Given the description of an element on the screen output the (x, y) to click on. 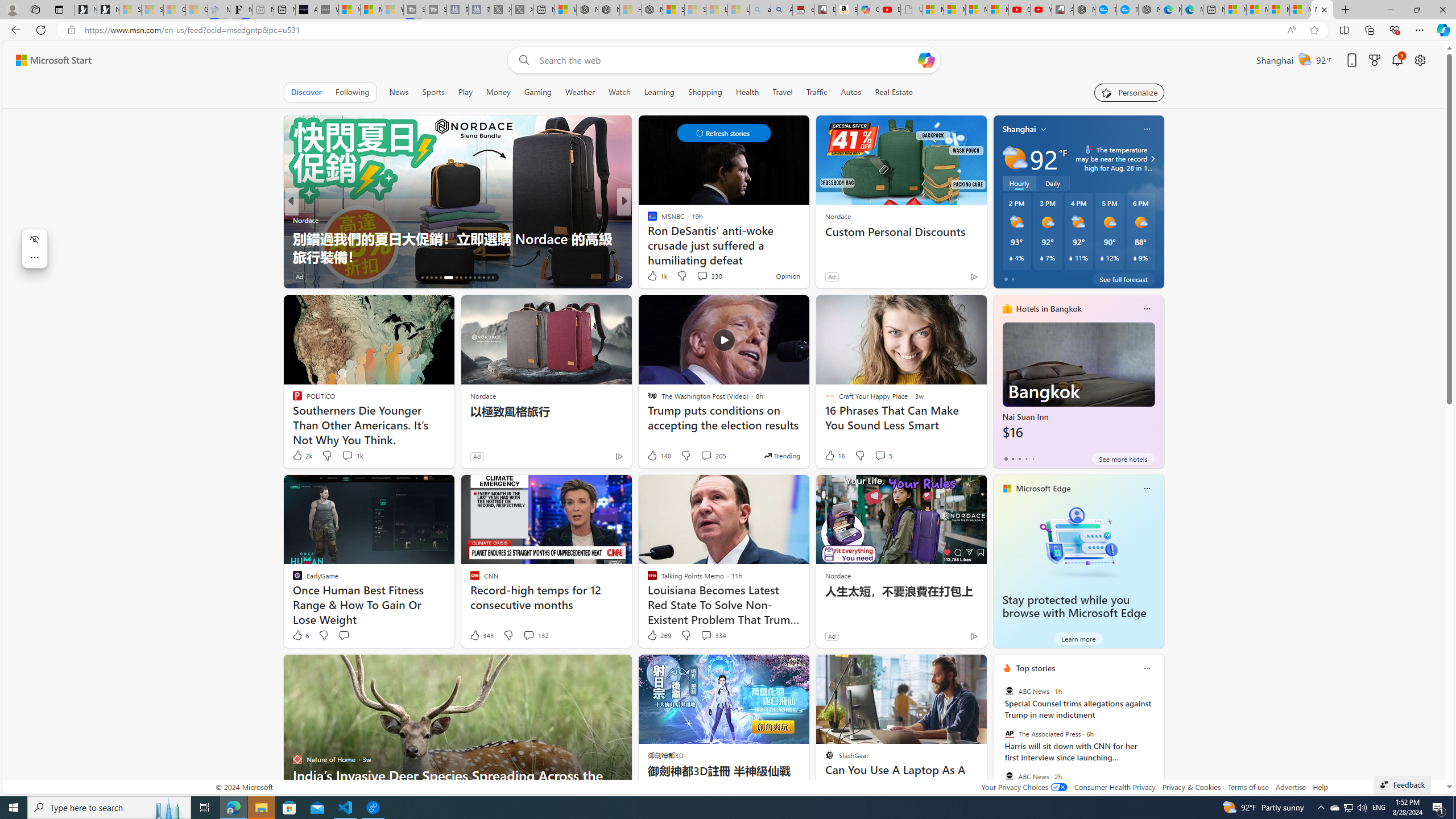
View comments 1 Comment (702, 276)
View comments 96 Comment (703, 276)
MUO (647, 219)
View comments 205 Comment (712, 455)
AutomationID: tab-17 (426, 277)
Business Insider (647, 219)
Consumer Health Privacy (1115, 786)
